Given the description of an element on the screen output the (x, y) to click on. 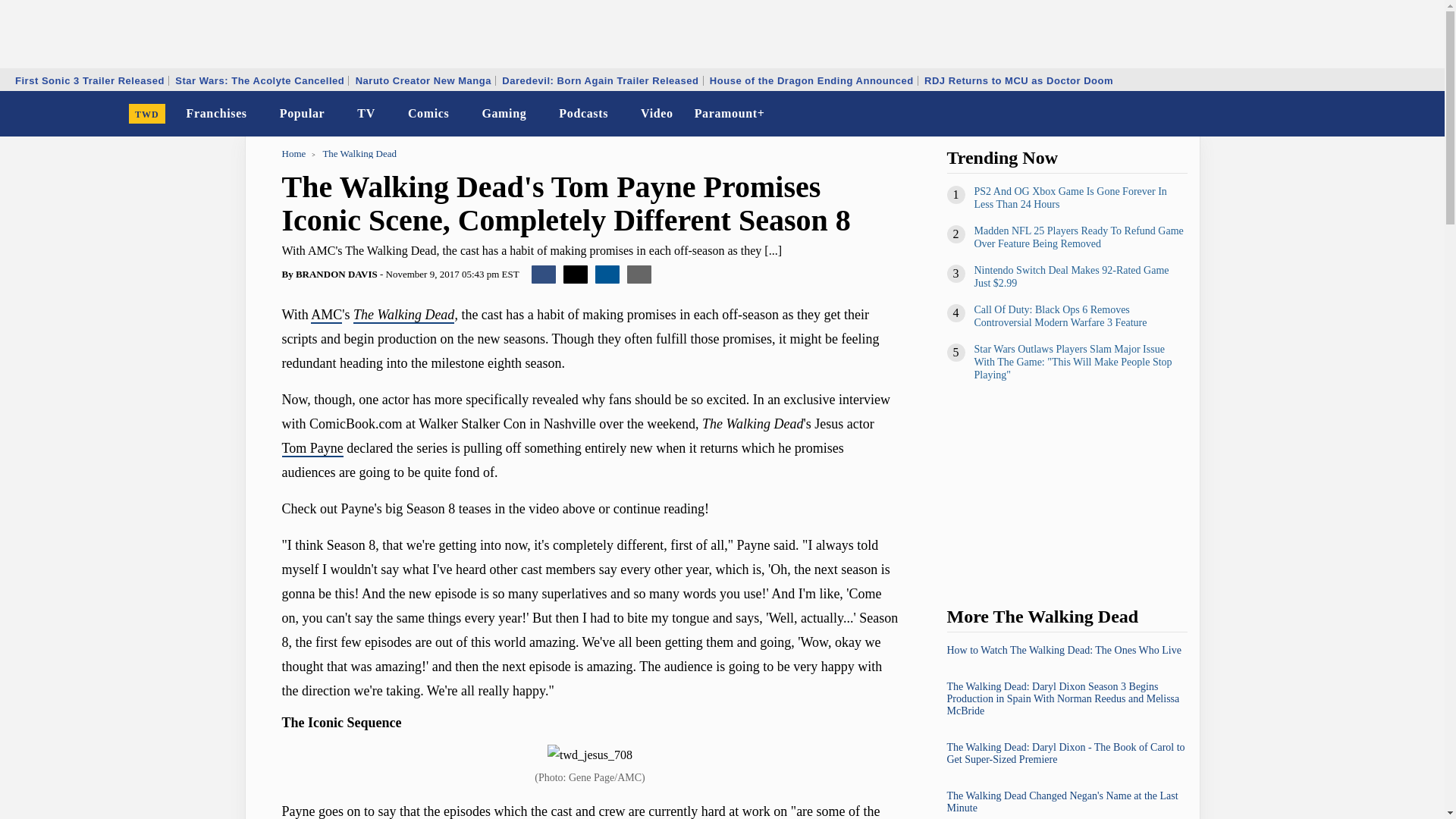
Star Wars: The Acolyte Cancelled (259, 80)
First Sonic 3 Trailer Released (89, 80)
Dark Mode (1394, 113)
Popular (302, 113)
Daredevil: Born Again Trailer Released (599, 80)
Naruto Creator New Manga (423, 80)
TWD (146, 113)
Search (1422, 114)
RDJ Returns to MCU as Doctor Doom (1018, 80)
Gaming (504, 113)
